Given the description of an element on the screen output the (x, y) to click on. 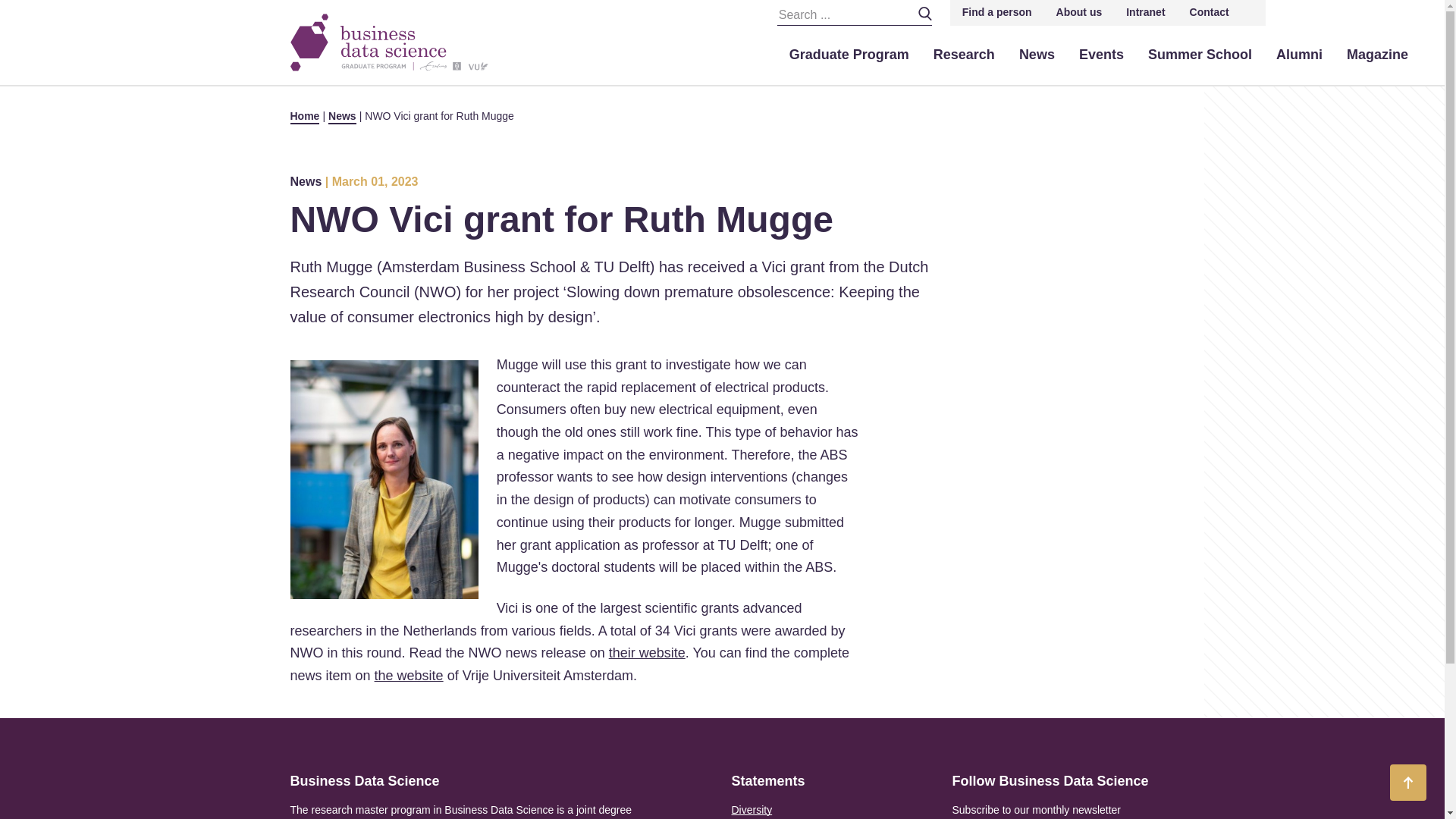
Magazine (1378, 55)
Intranet (1144, 12)
About us (1079, 12)
News (1037, 55)
Summer School (1199, 55)
Alumni (1299, 55)
Graduate Program (849, 55)
Research (964, 55)
Contact (1209, 12)
Events (1101, 55)
